Given the description of an element on the screen output the (x, y) to click on. 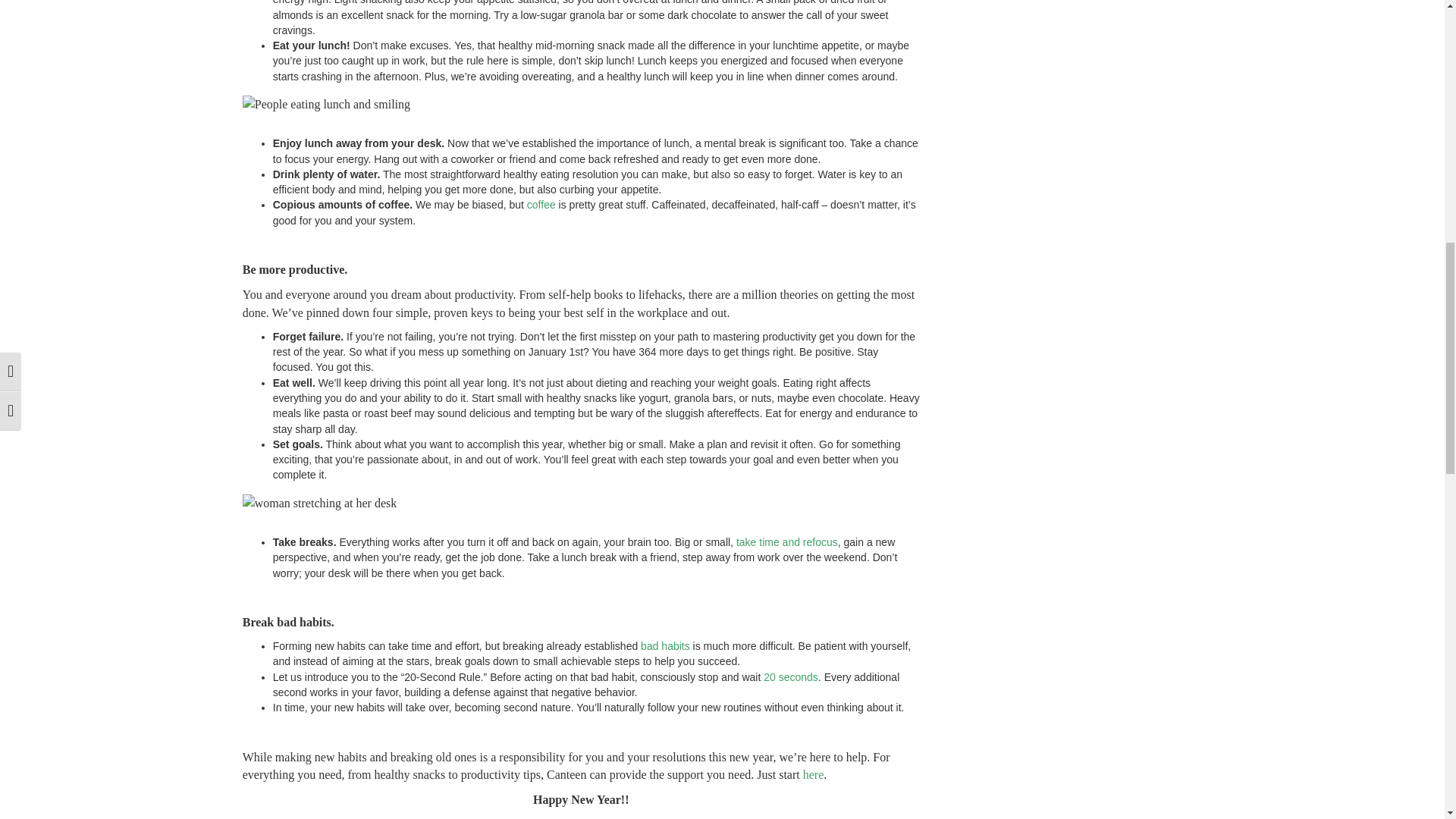
here (813, 774)
take time and refocus (787, 541)
coffee (541, 204)
bad habits (665, 645)
20 seconds (790, 676)
